Given the description of an element on the screen output the (x, y) to click on. 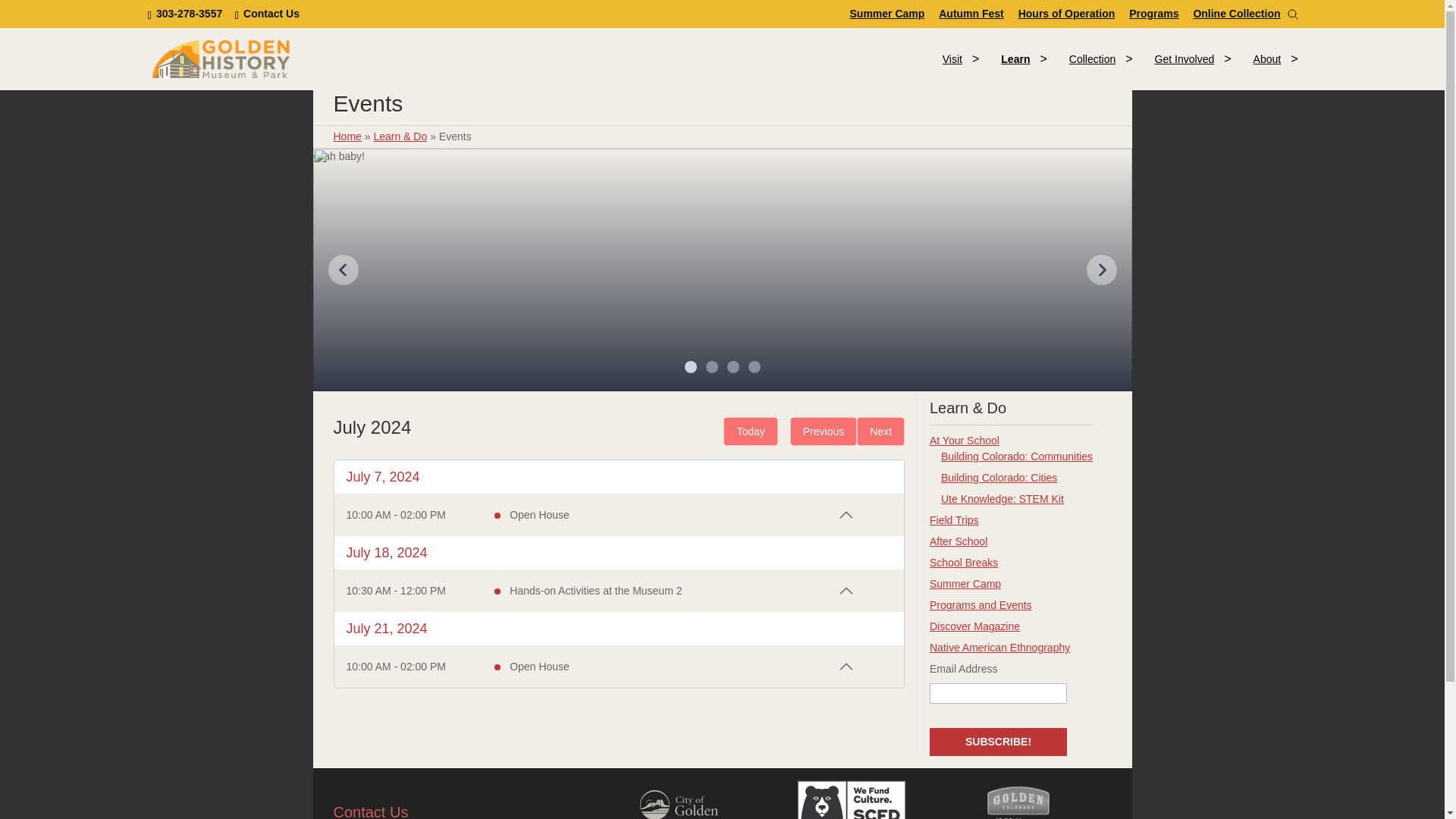
Hours of Operation (1066, 13)
Visit (952, 58)
Programs (1153, 13)
Autumn Fest (971, 13)
Summer Camp (887, 13)
Collection (1091, 58)
Online Collection (1235, 13)
Learn (186, 13)
Main Menu (1014, 58)
Contact Us (802, 58)
Learn (266, 13)
Visit (1014, 58)
